Given the description of an element on the screen output the (x, y) to click on. 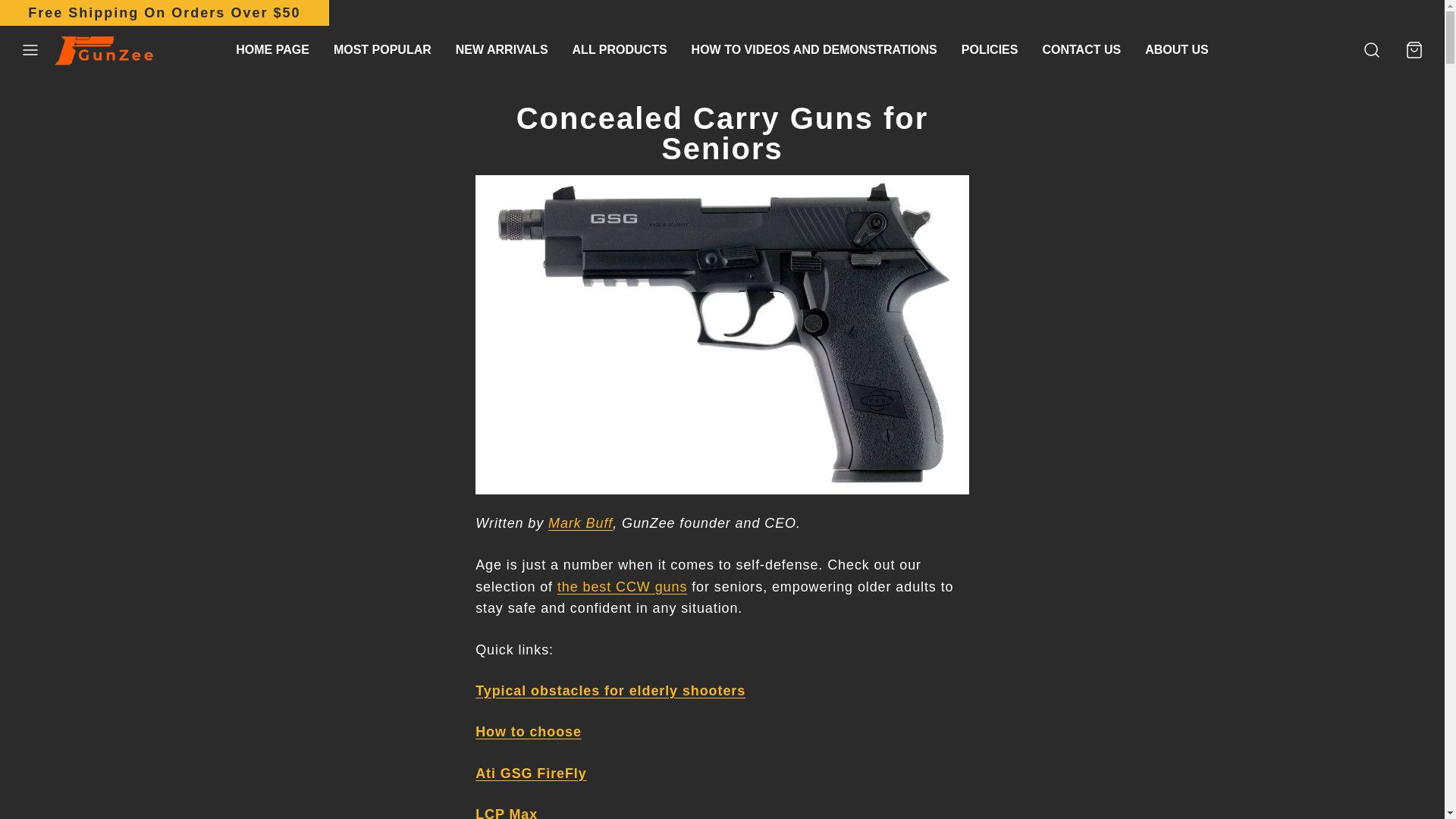
ALL PRODUCTS (620, 50)
CONTACT US (1080, 50)
POLICIES (989, 50)
ABOUT US (1176, 50)
the best CCW guns (622, 586)
Mark Buff (580, 522)
NEW ARRIVALS (501, 50)
SEARCH (1372, 49)
MOST POPULAR (382, 50)
HOW TO VIDEOS AND DEMONSTRATIONS (814, 50)
